Given the description of an element on the screen output the (x, y) to click on. 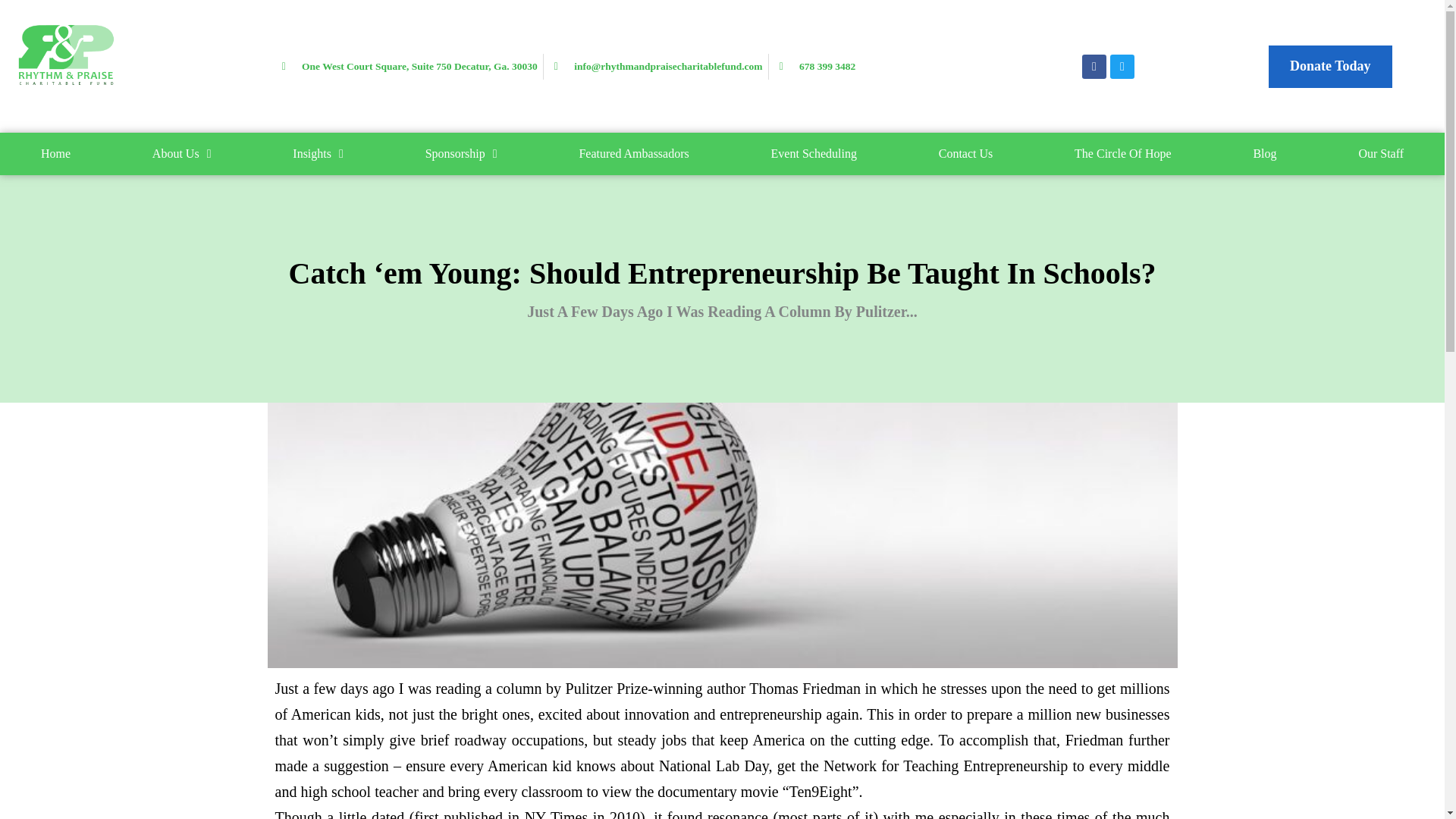
678 399 3482 (815, 66)
About Us (181, 153)
Donate Today (1329, 66)
Blog (1264, 153)
Event Scheduling (814, 153)
Home (56, 153)
The Circle Of Hope (1122, 153)
Sponsorship (461, 153)
Insights (317, 153)
Contact Us (965, 153)
Featured Ambassadors (634, 153)
